Given the description of an element on the screen output the (x, y) to click on. 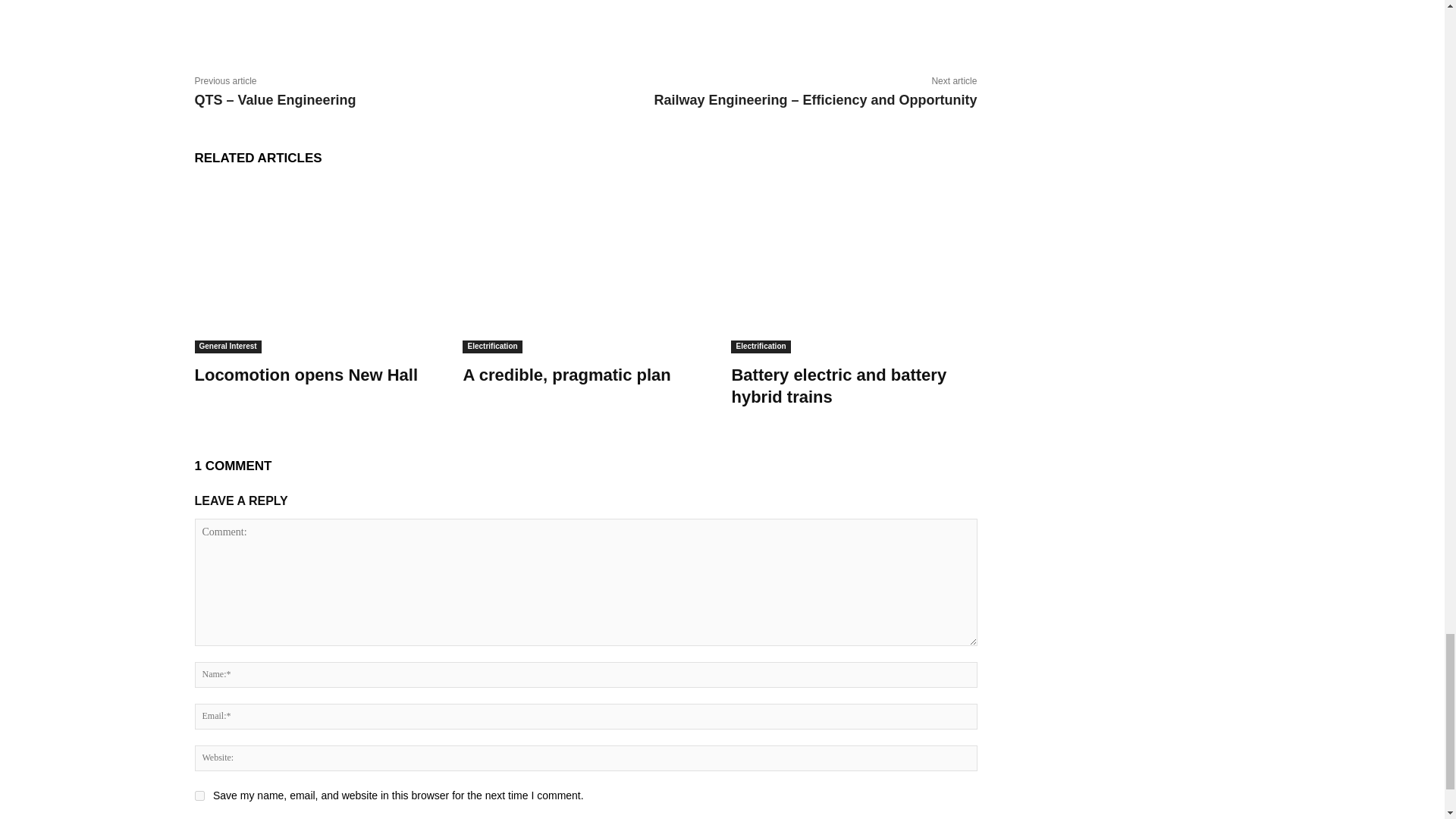
yes (198, 795)
